Given the description of an element on the screen output the (x, y) to click on. 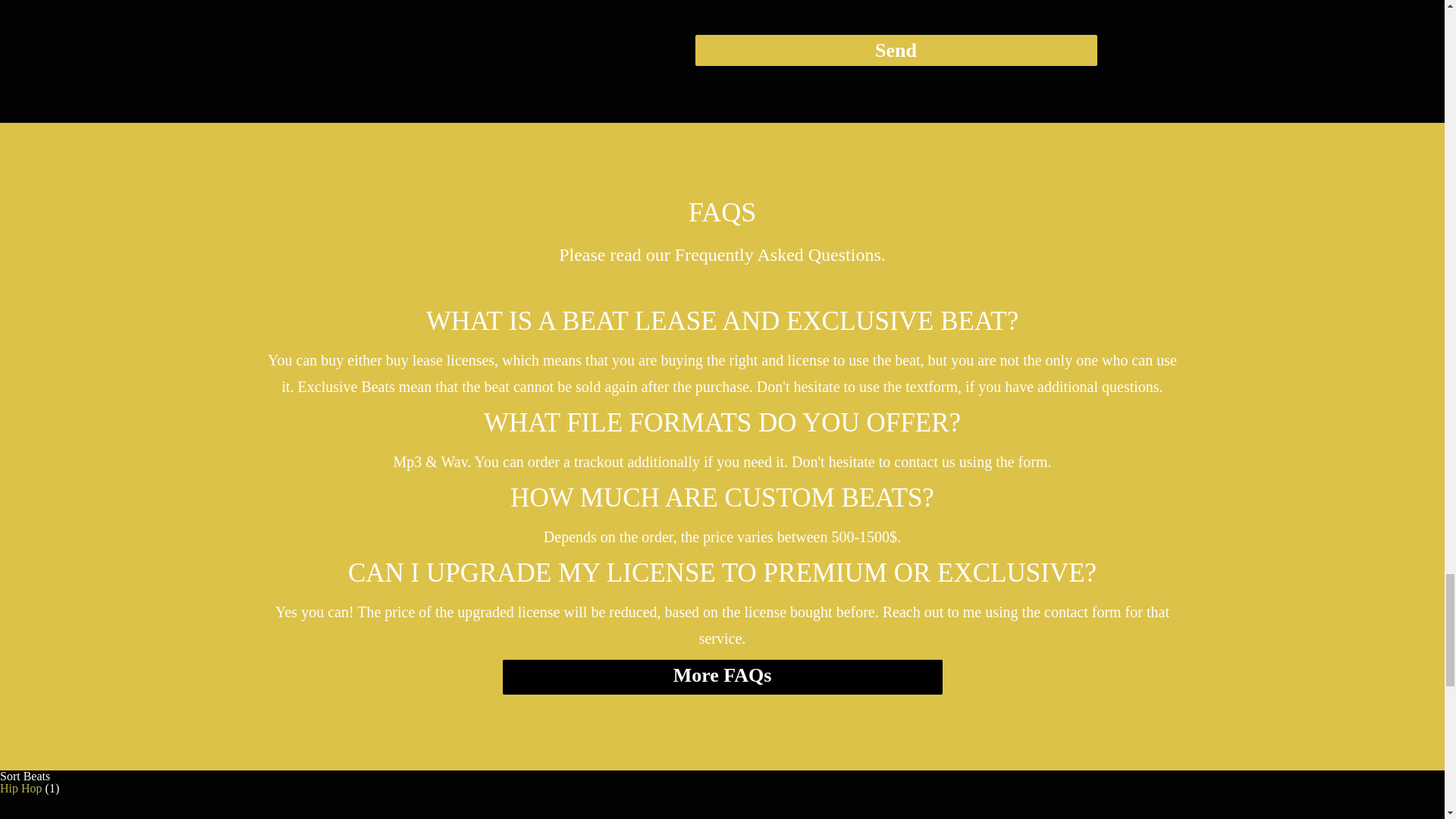
Send (895, 50)
Send (895, 50)
WHAT IS A BEAT LEASE AND EXCLUSIVE BEAT? (721, 321)
Hip Hop (21, 788)
HOW MUCH ARE CUSTOM BEATS? (721, 498)
More FAQs (722, 677)
CAN I UPGRADE MY LICENSE TO PREMIUM OR EXCLUSIVE? (721, 572)
WHAT FILE FORMATS DO YOU OFFER? (721, 422)
